Given the description of an element on the screen output the (x, y) to click on. 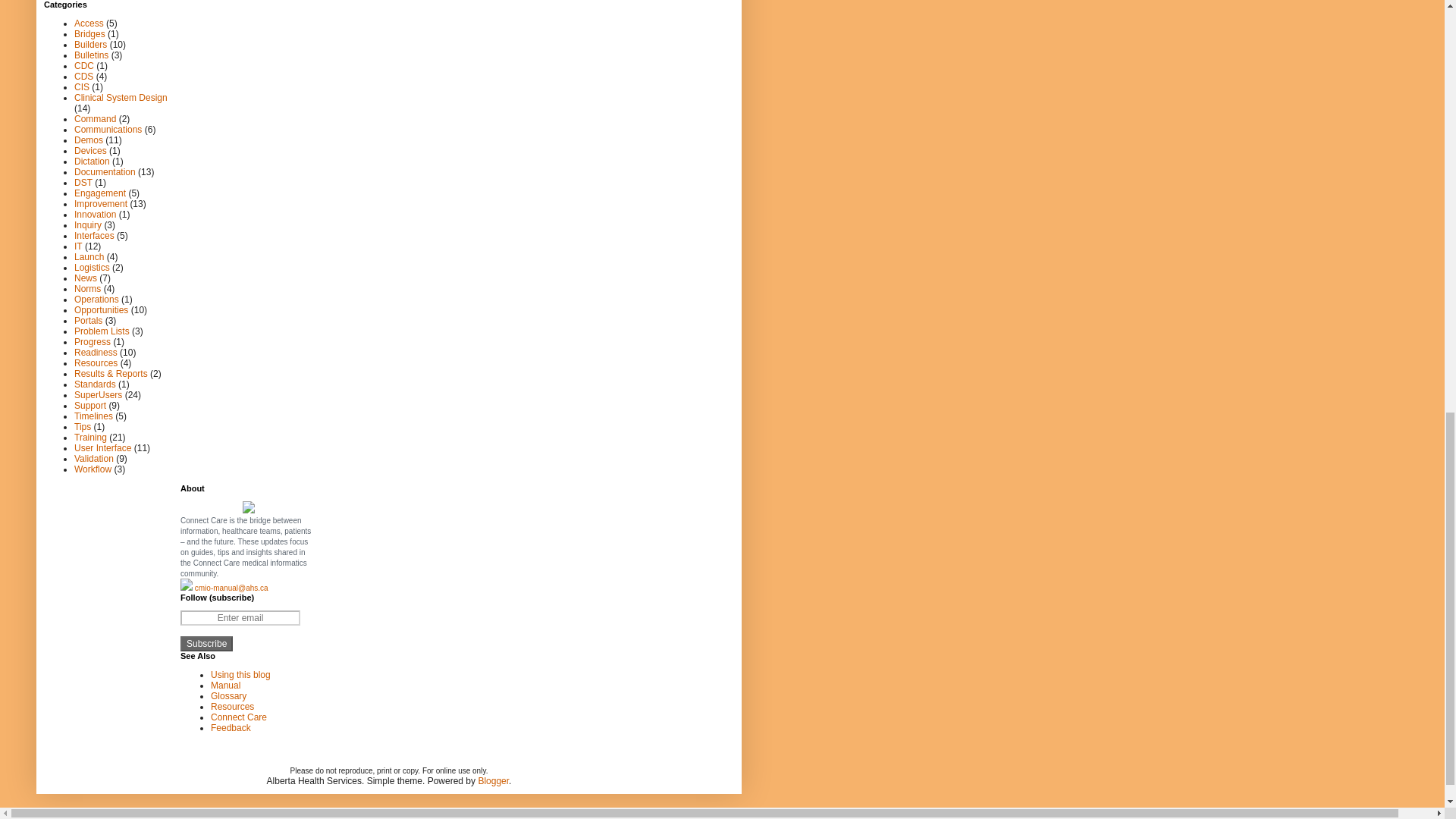
Communications (107, 128)
Devices (90, 149)
CDS (83, 75)
DST (83, 181)
Bulletins (90, 54)
Bridges (89, 32)
Documentation (104, 171)
CDC (84, 64)
CIS (81, 86)
Engagement (99, 192)
